Given the description of an element on the screen output the (x, y) to click on. 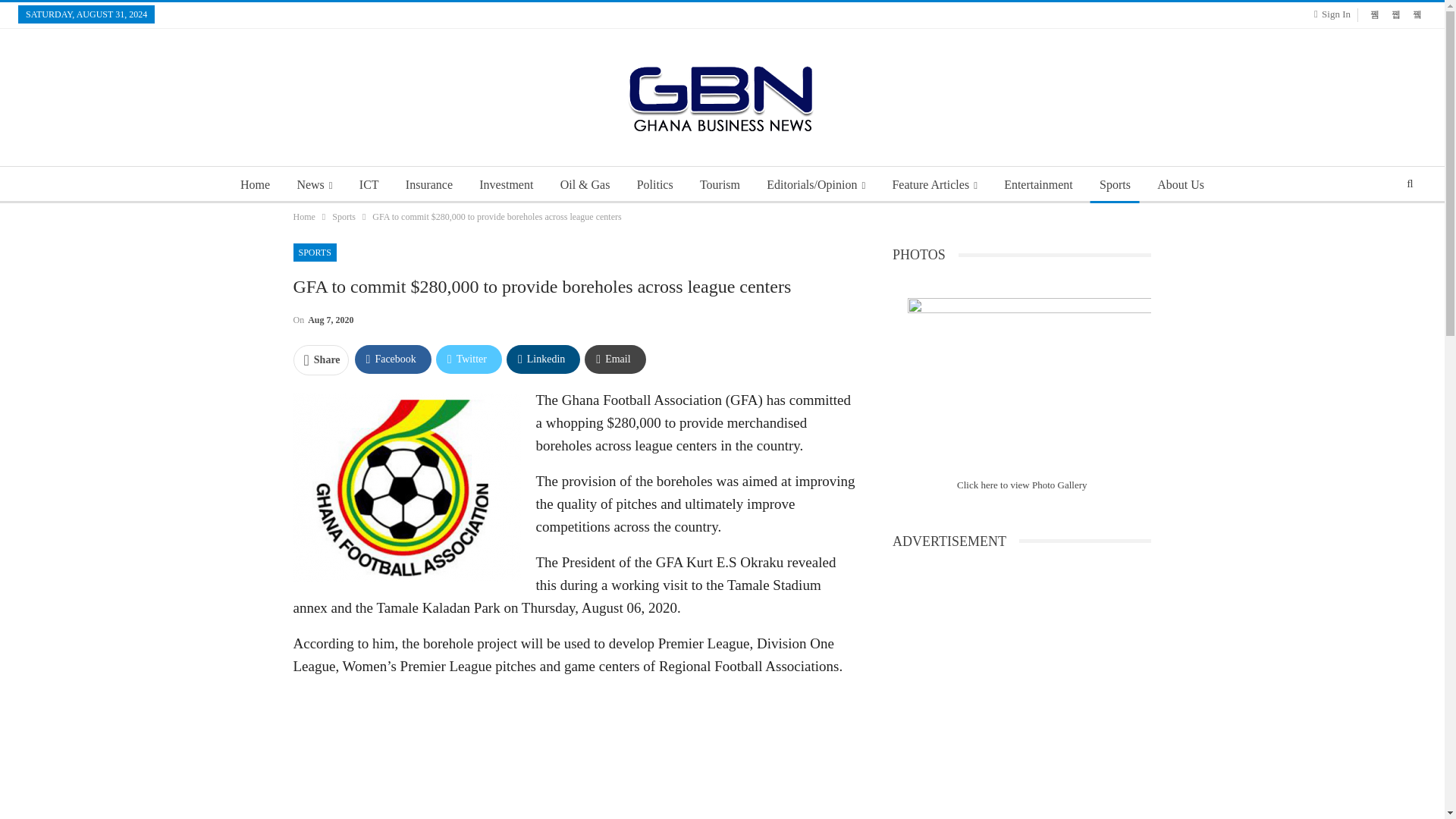
ICT (369, 185)
Sports (1115, 185)
Home (303, 216)
About Us (1180, 185)
Sports (343, 216)
13th-African-games-3 (1029, 379)
Sign In (1335, 13)
Politics (654, 185)
Click here to view Photo Gallery (1021, 484)
Insurance (428, 185)
